Given the description of an element on the screen output the (x, y) to click on. 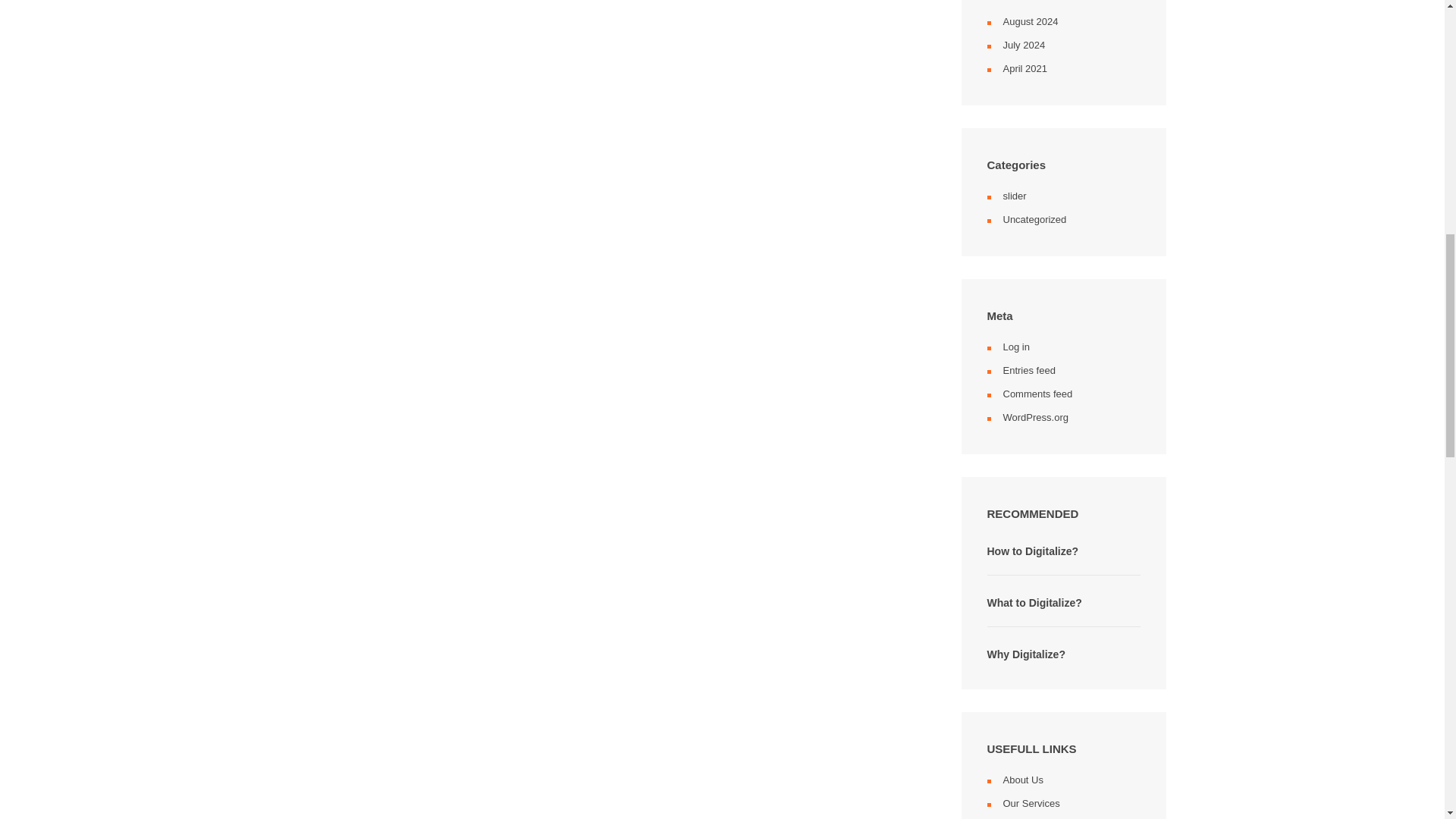
Comments feed (1037, 393)
July 2024 (1024, 44)
How to Digitalize? (1032, 549)
August 2024 (1030, 20)
Our Services (1031, 803)
What to Digitalize? (1034, 601)
About Us (1022, 778)
WordPress.org (1035, 416)
Log in (1016, 346)
Why Digitalize? (1026, 653)
